Given the description of an element on the screen output the (x, y) to click on. 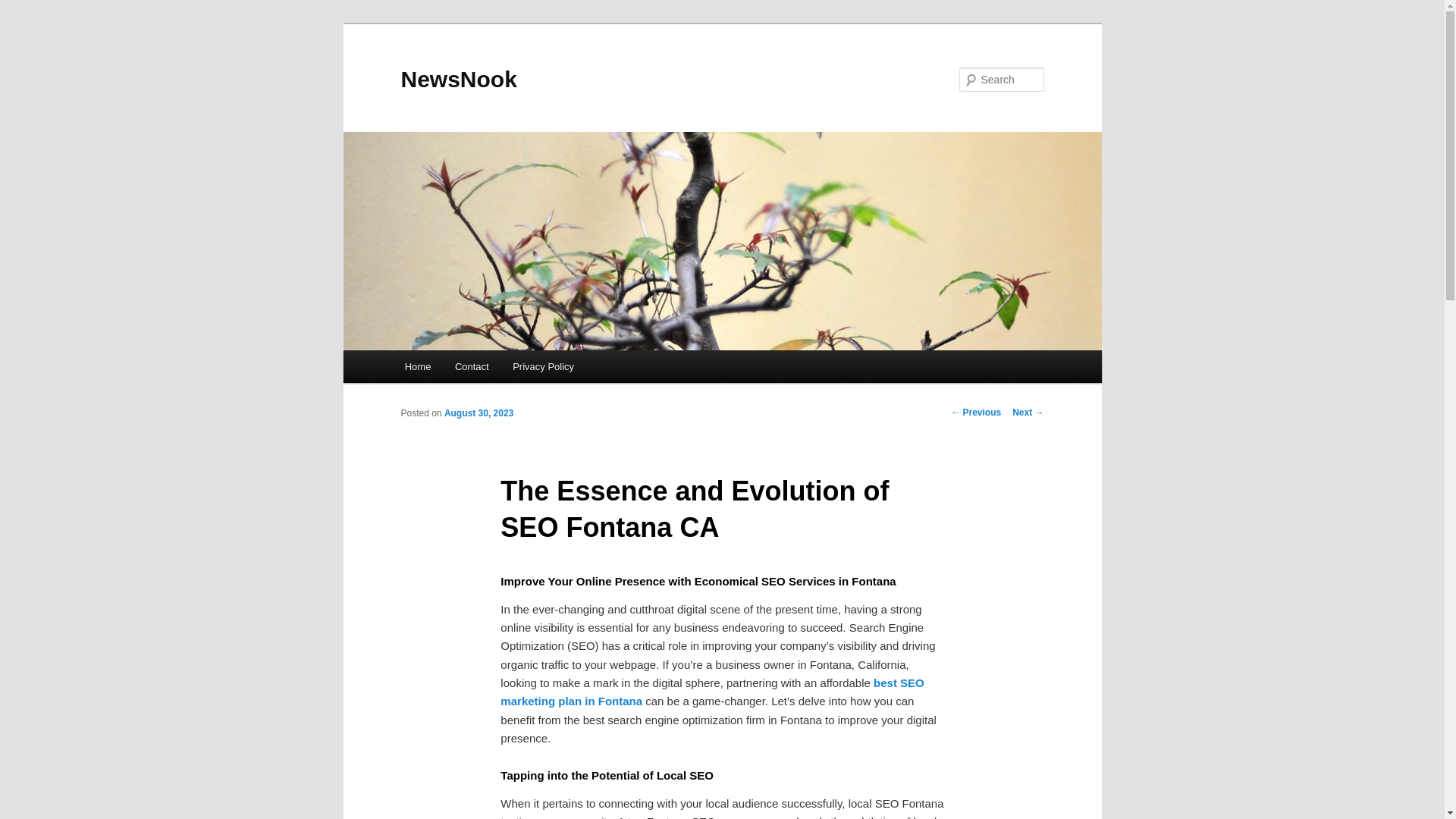
12:39 pm (478, 412)
Home (417, 366)
Contact (471, 366)
best SEO marketing plan in Fontana (711, 691)
August 30, 2023 (478, 412)
NewsNook (458, 78)
Privacy Policy (542, 366)
Search (24, 8)
